Given the description of an element on the screen output the (x, y) to click on. 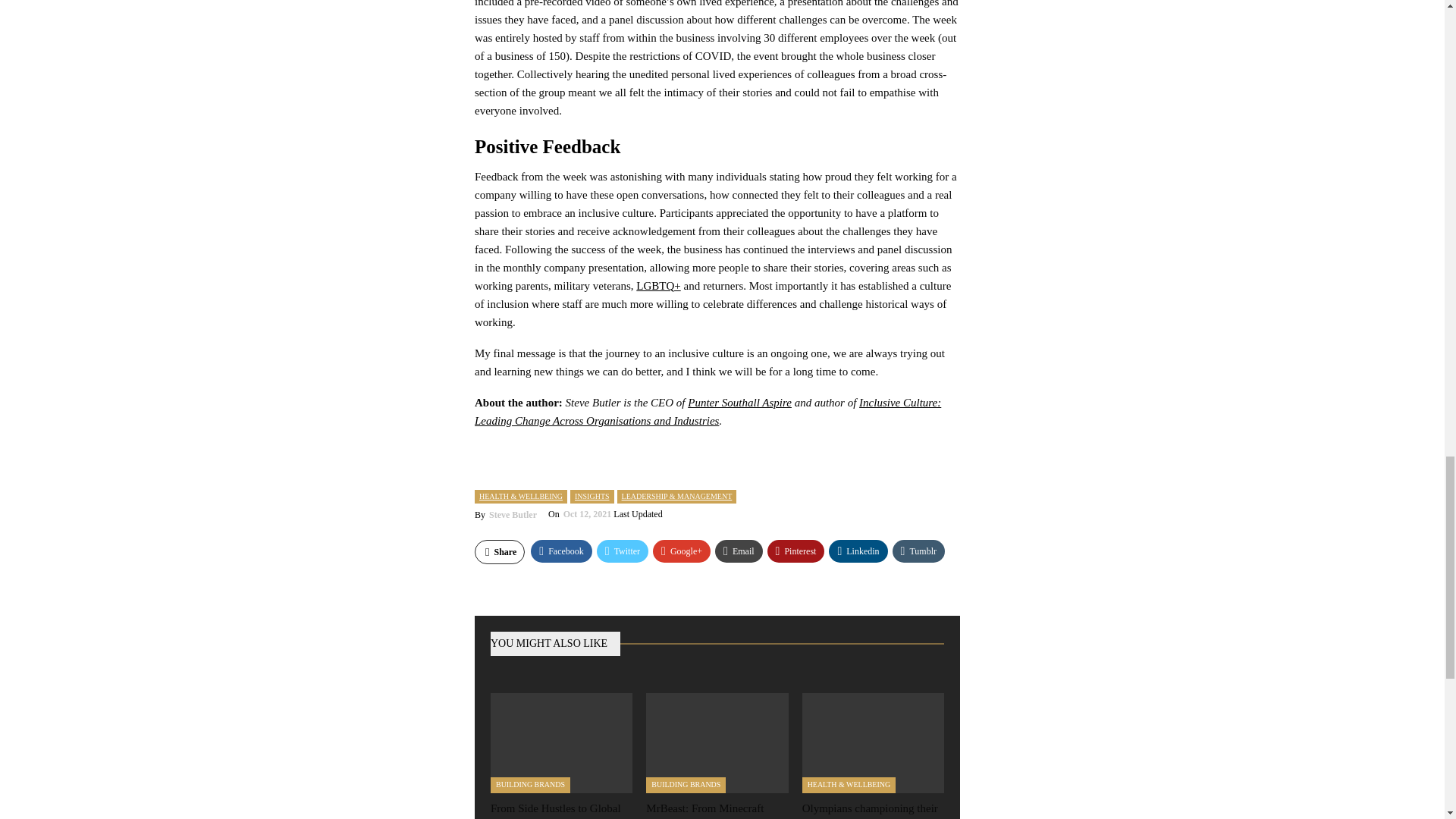
MrBeast: From Minecraft Gameplay to YouTube Royalty (716, 742)
Olympians championing their sport and their mental health (869, 810)
From Side Hustles to Global Success (560, 742)
From Side Hustles to Global Success (555, 810)
MrBeast: From Minecraft Gameplay to YouTube Royalty (716, 810)
Olympians championing their sport and their mental health (872, 742)
